Given the description of an element on the screen output the (x, y) to click on. 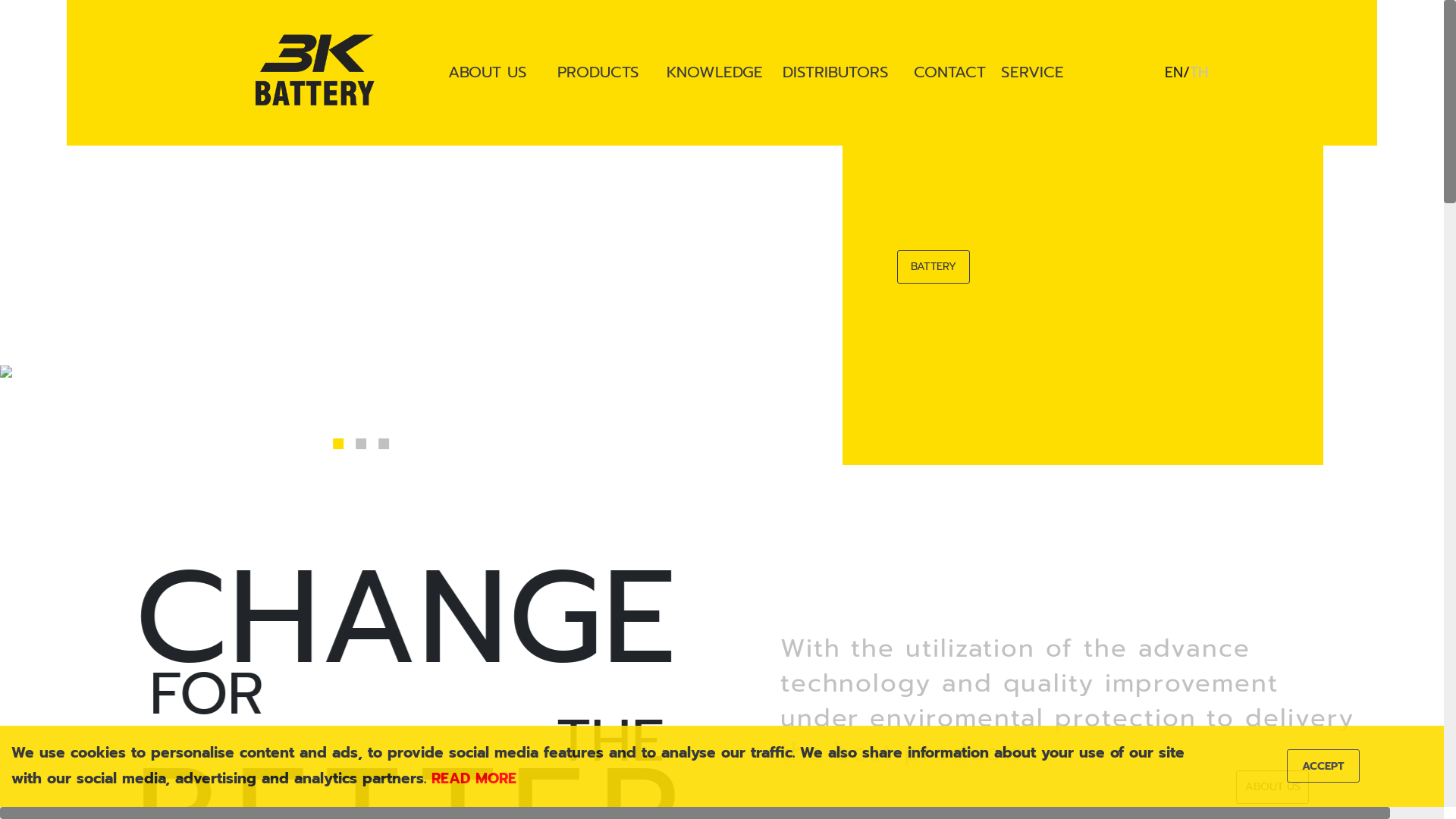
SERVICE Element type: text (1062, 72)
BATTERY Element type: text (933, 266)
PRODUCTS Element type: text (600, 72)
2 Element type: text (360, 440)
DISTRIBUTORS Element type: text (836, 72)
EN Element type: text (1173, 73)
ACCEPT Element type: text (1322, 765)
1 Element type: text (337, 440)
KNOWLEDGE Element type: text (713, 72)
CONTACT Element type: text (945, 72)
3 Element type: text (383, 440)
TH Element type: text (1198, 73)
READ MORE Element type: text (473, 778)
ABOUT US Element type: text (1272, 786)
ABOUT US Element type: text (491, 72)
